Given the description of an element on the screen output the (x, y) to click on. 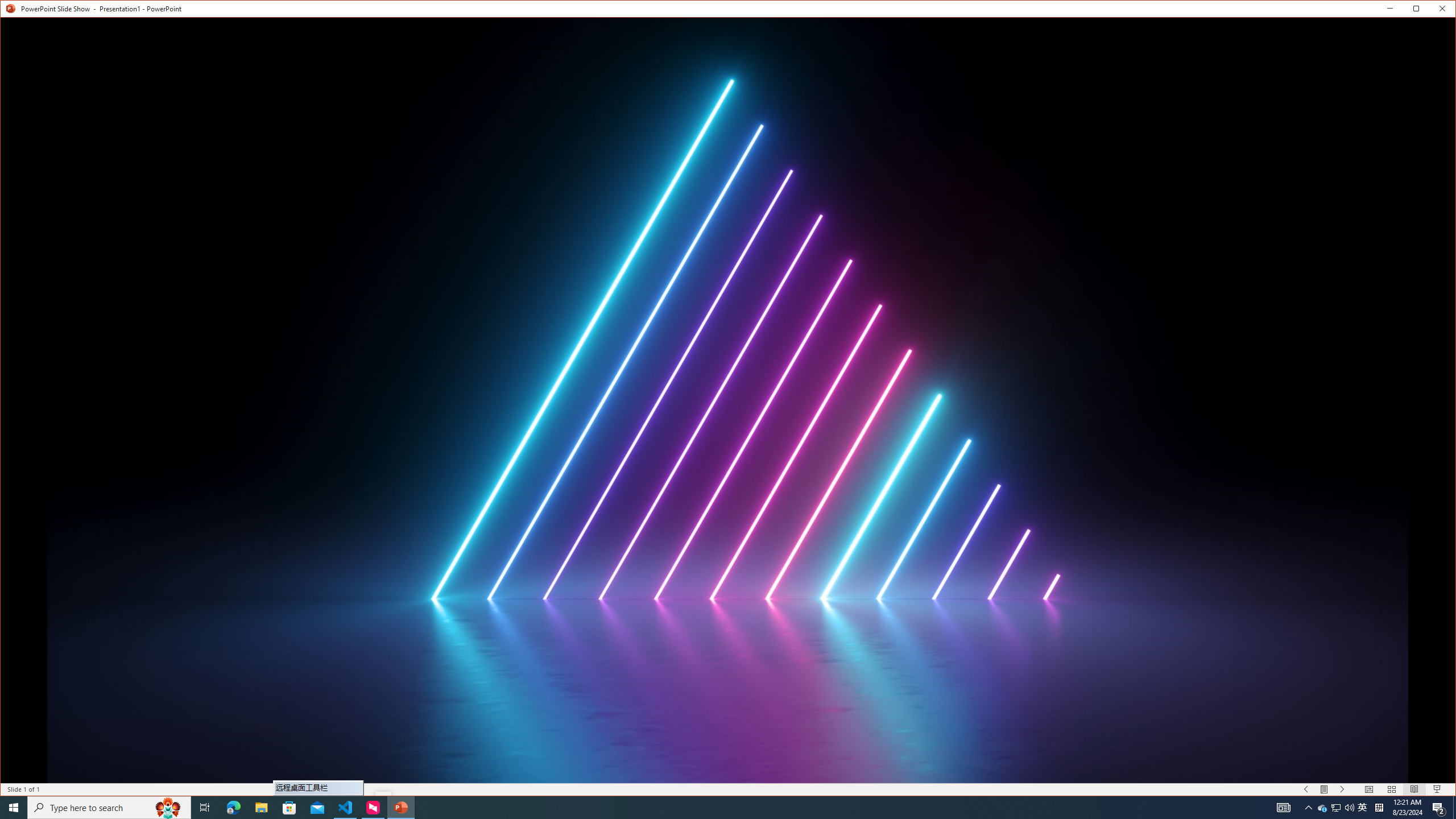
Slide Show Next On (1342, 789)
